Given the description of an element on the screen output the (x, y) to click on. 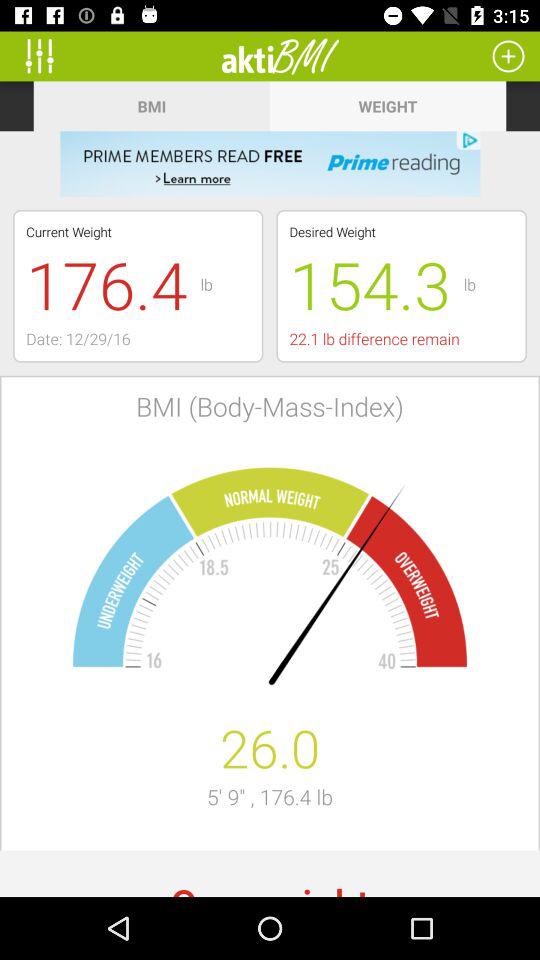
this is an advertisement to direct you to amazon prime reading membership sign up (270, 163)
